Given the description of an element on the screen output the (x, y) to click on. 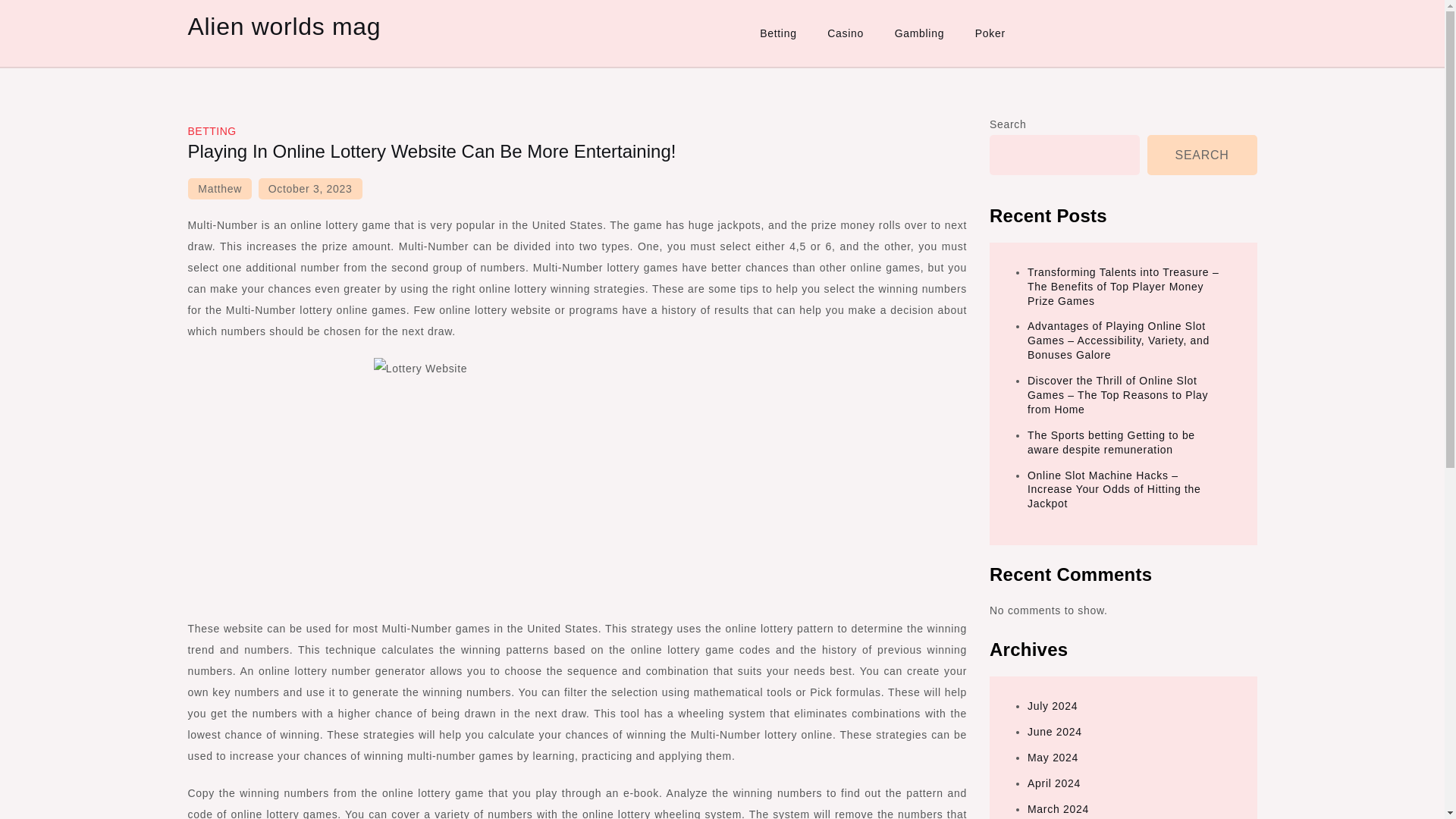
Gambling (919, 33)
The Sports betting Getting to be aware despite remuneration (1111, 442)
Betting (777, 33)
May 2024 (1052, 757)
Alien worlds mag (284, 26)
March 2024 (1058, 808)
October 3, 2023 (310, 188)
Matthew (219, 188)
SEARCH (1202, 155)
Casino (845, 33)
